Given the description of an element on the screen output the (x, y) to click on. 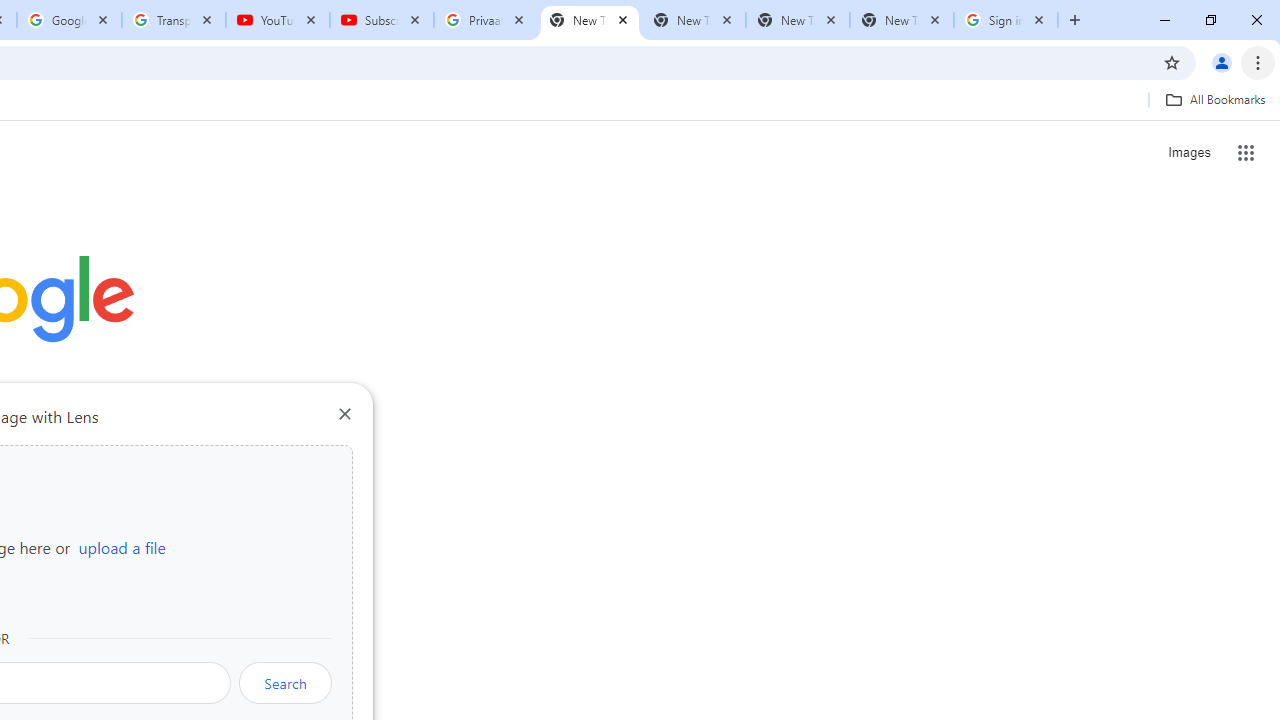
New Tab (901, 20)
YouTube (278, 20)
More actions for Sign in shortcut (152, 466)
Subscriptions - YouTube (381, 20)
upload a file (122, 547)
